Given the description of an element on the screen output the (x, y) to click on. 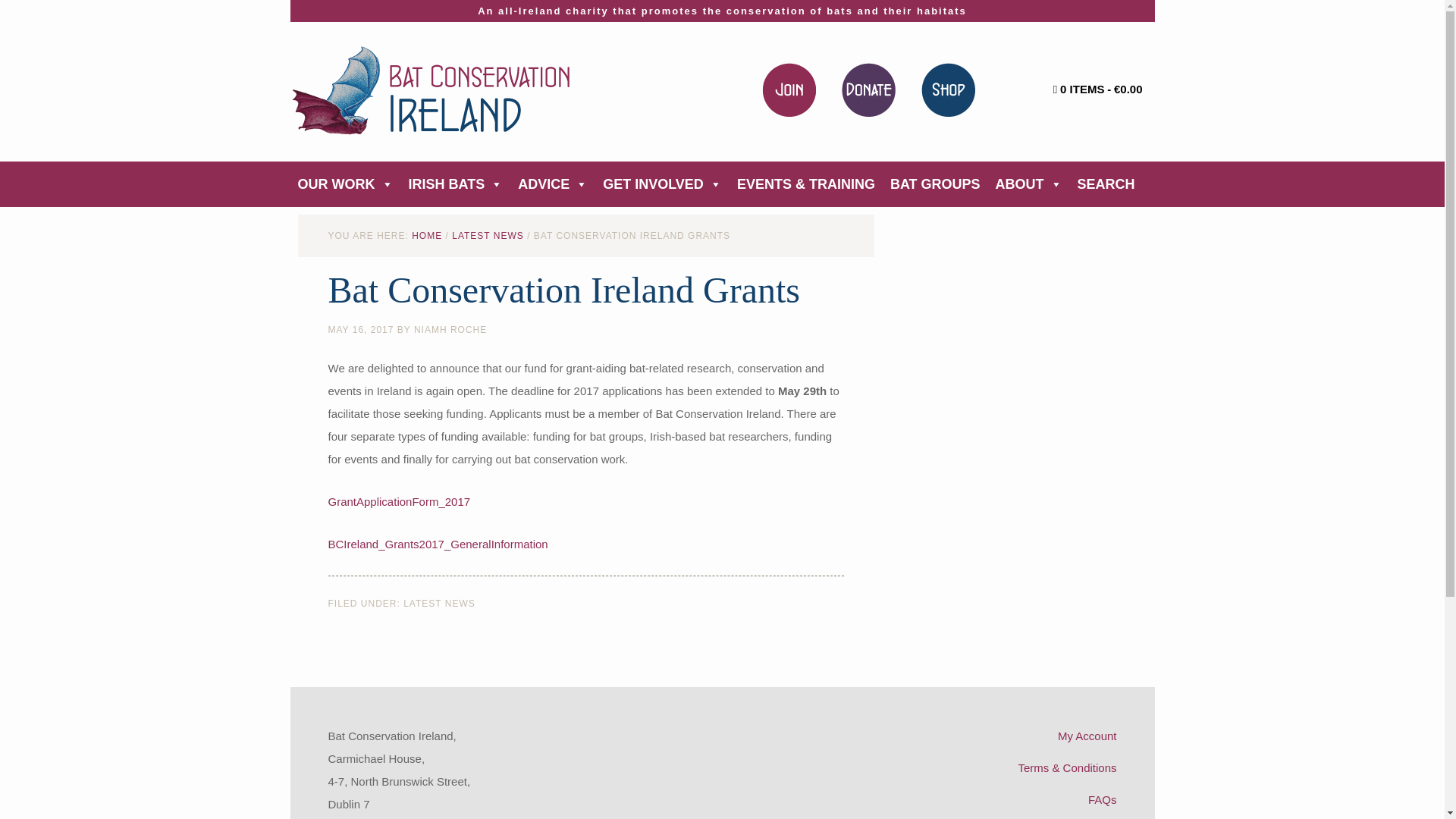
Bat Conservation Ireland (429, 90)
Bat Conservation Ireland membership (788, 88)
Donate (868, 88)
Shop (947, 88)
ADVICE (553, 183)
GET INVOLVED (662, 183)
OUR WORK (344, 183)
Start shopping (1075, 89)
IRISH BATS (455, 183)
